Given the description of an element on the screen output the (x, y) to click on. 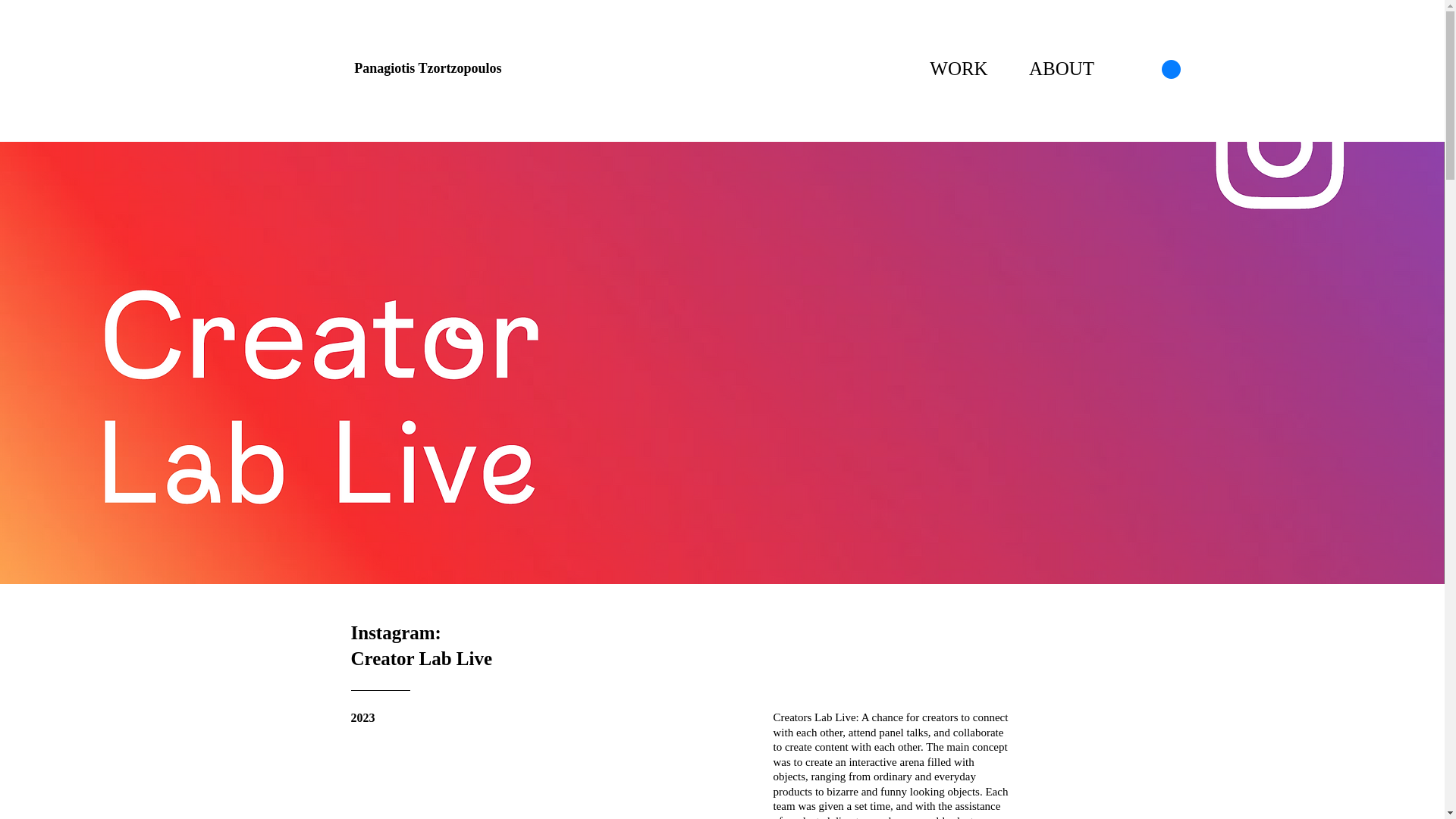
WORK (959, 68)
ABOUT (1062, 68)
